Given the description of an element on the screen output the (x, y) to click on. 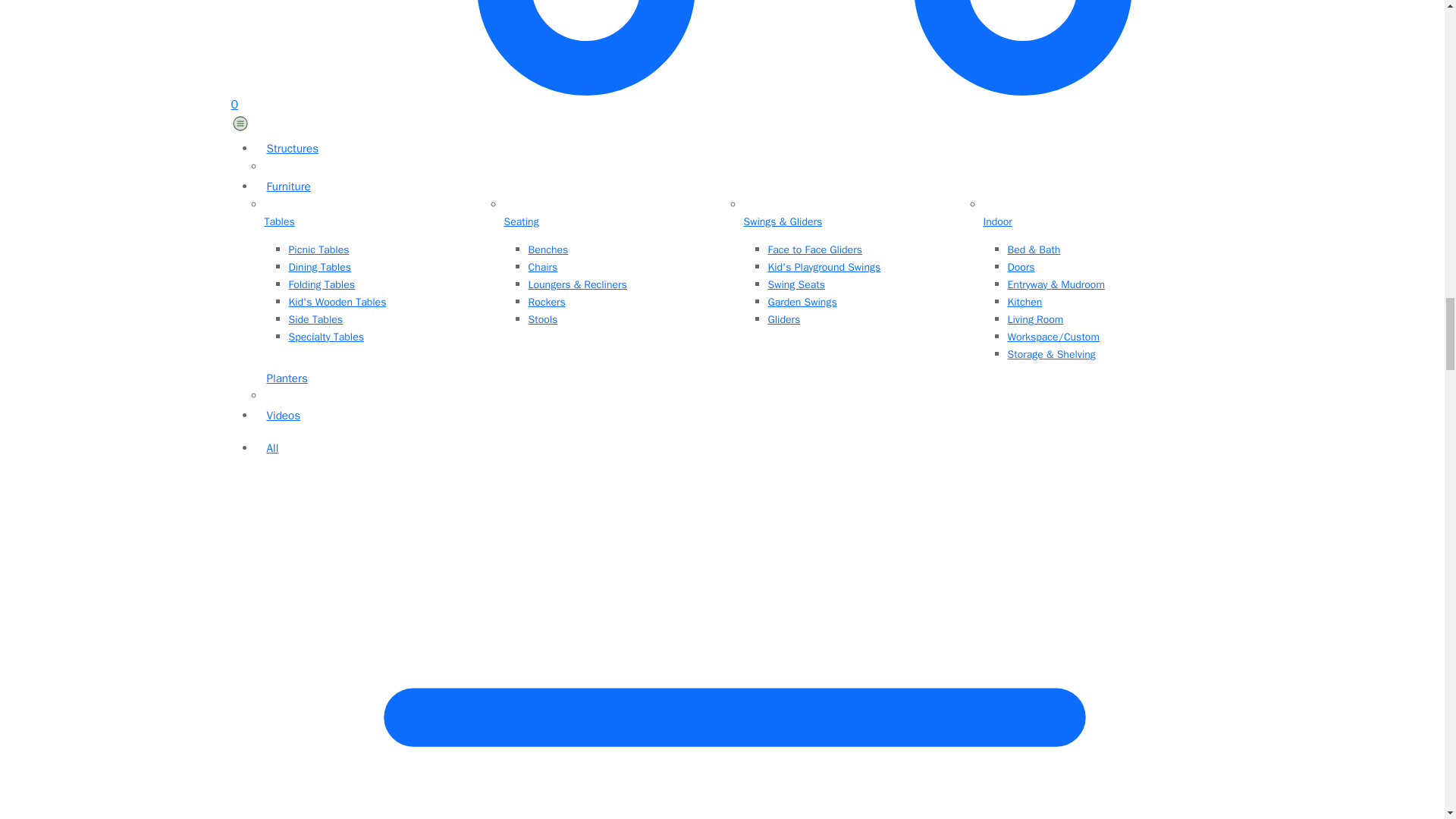
Shopping Cart (721, 56)
Chairs (626, 267)
Kitchen (1105, 302)
Furniture (733, 186)
Structures (733, 148)
Kid's Playground Swings (865, 267)
Picnic Tables (386, 249)
Living Room (1105, 319)
Indoor (1093, 221)
Kid's Wooden Tables (386, 302)
